Given the description of an element on the screen output the (x, y) to click on. 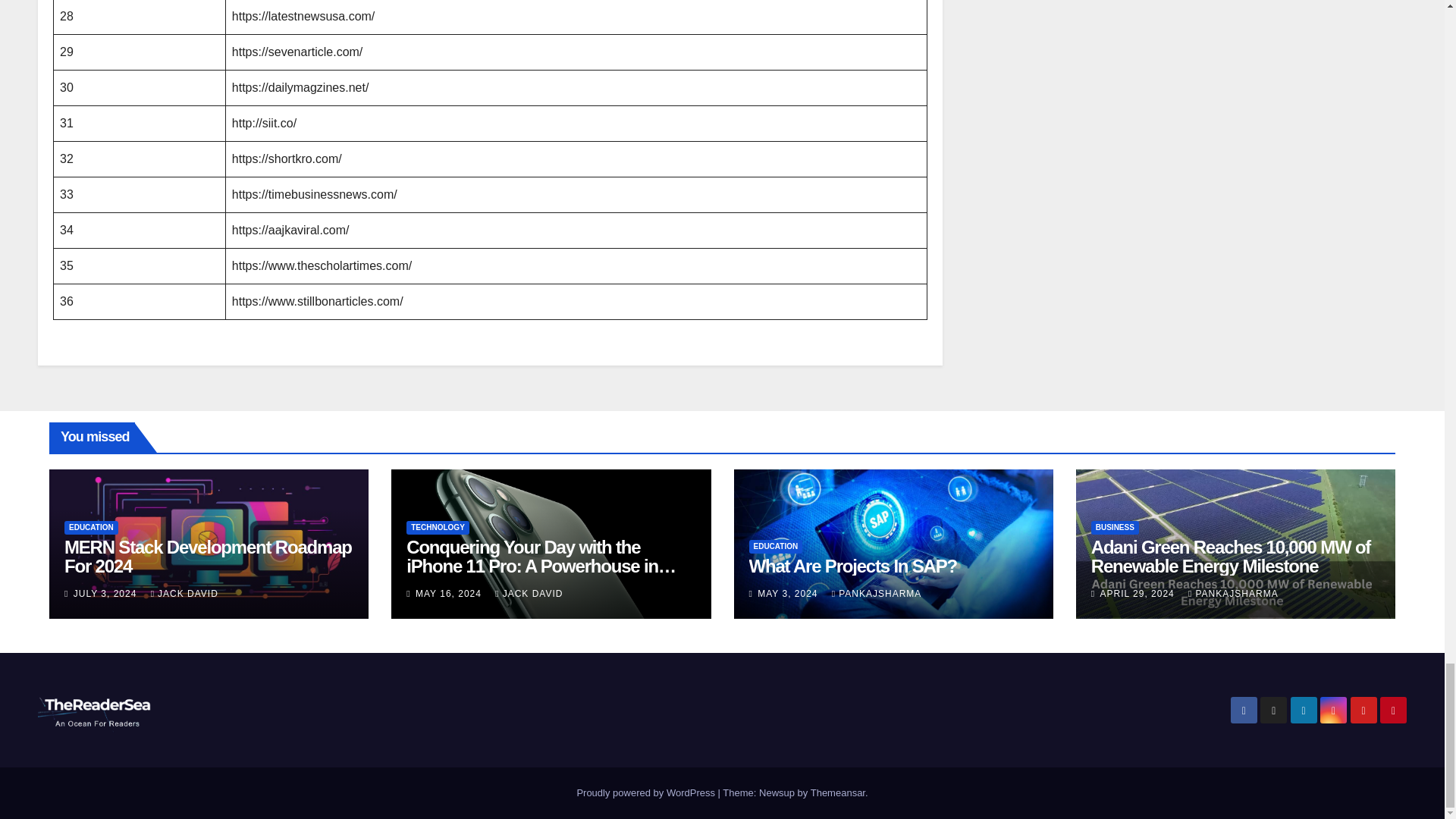
Permalink to: MERN Stack Development Roadmap For 2024 (208, 556)
Permalink to: What Are Projects In SAP? (853, 566)
